Given the description of an element on the screen output the (x, y) to click on. 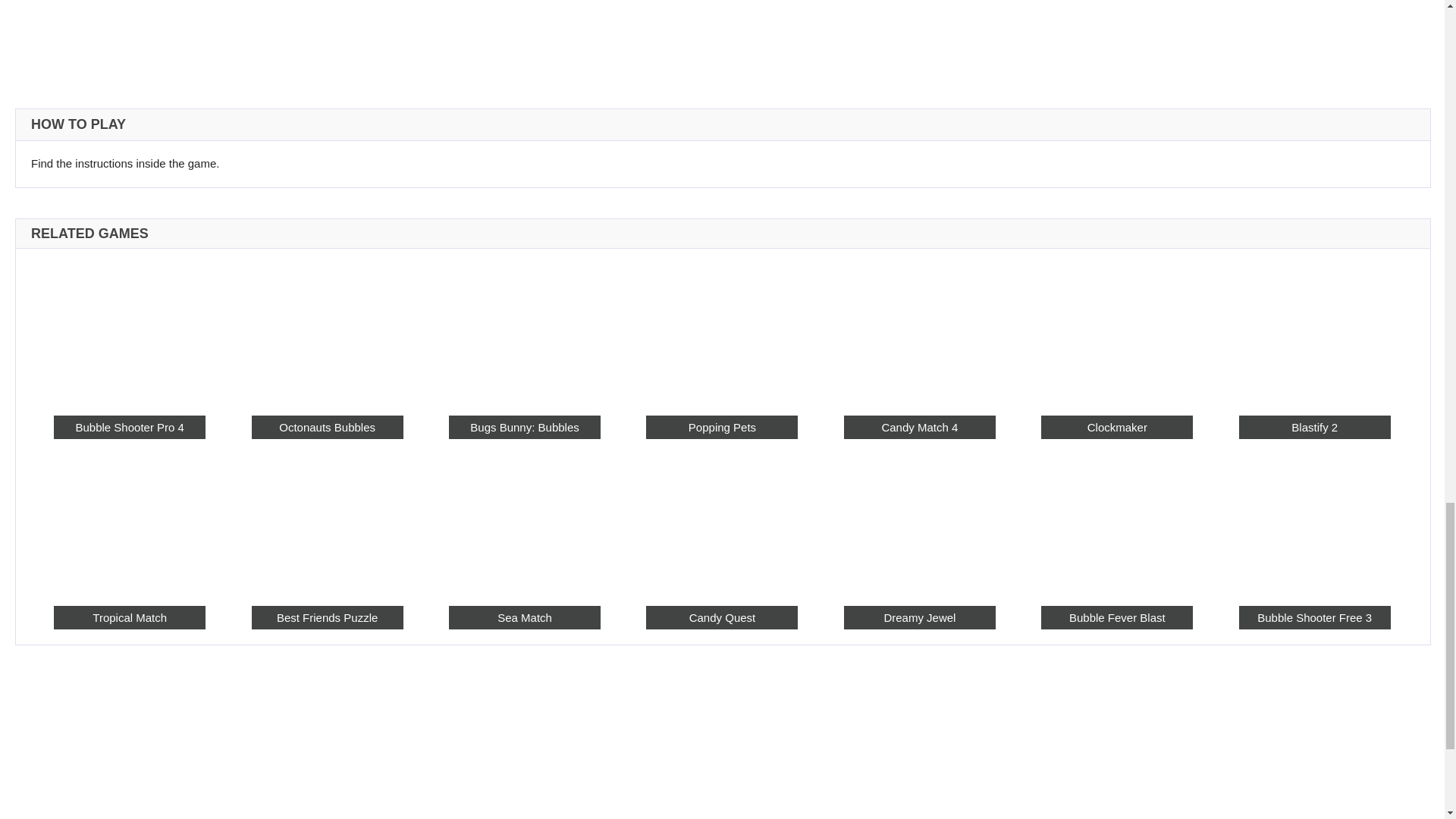
Blastify 2 (1314, 426)
Clockmaker (1116, 330)
Clockmaker (1116, 426)
Octonauts Bubbles (327, 330)
Candy Match 4 (919, 330)
Candy Match 4 (919, 426)
Bugs Bunny: Bubbles (523, 330)
Octonauts Bubbles (327, 426)
Bugs Bunny: Bubbles (523, 426)
Bubble Shooter Pro 4 (129, 330)
